Given the description of an element on the screen output the (x, y) to click on. 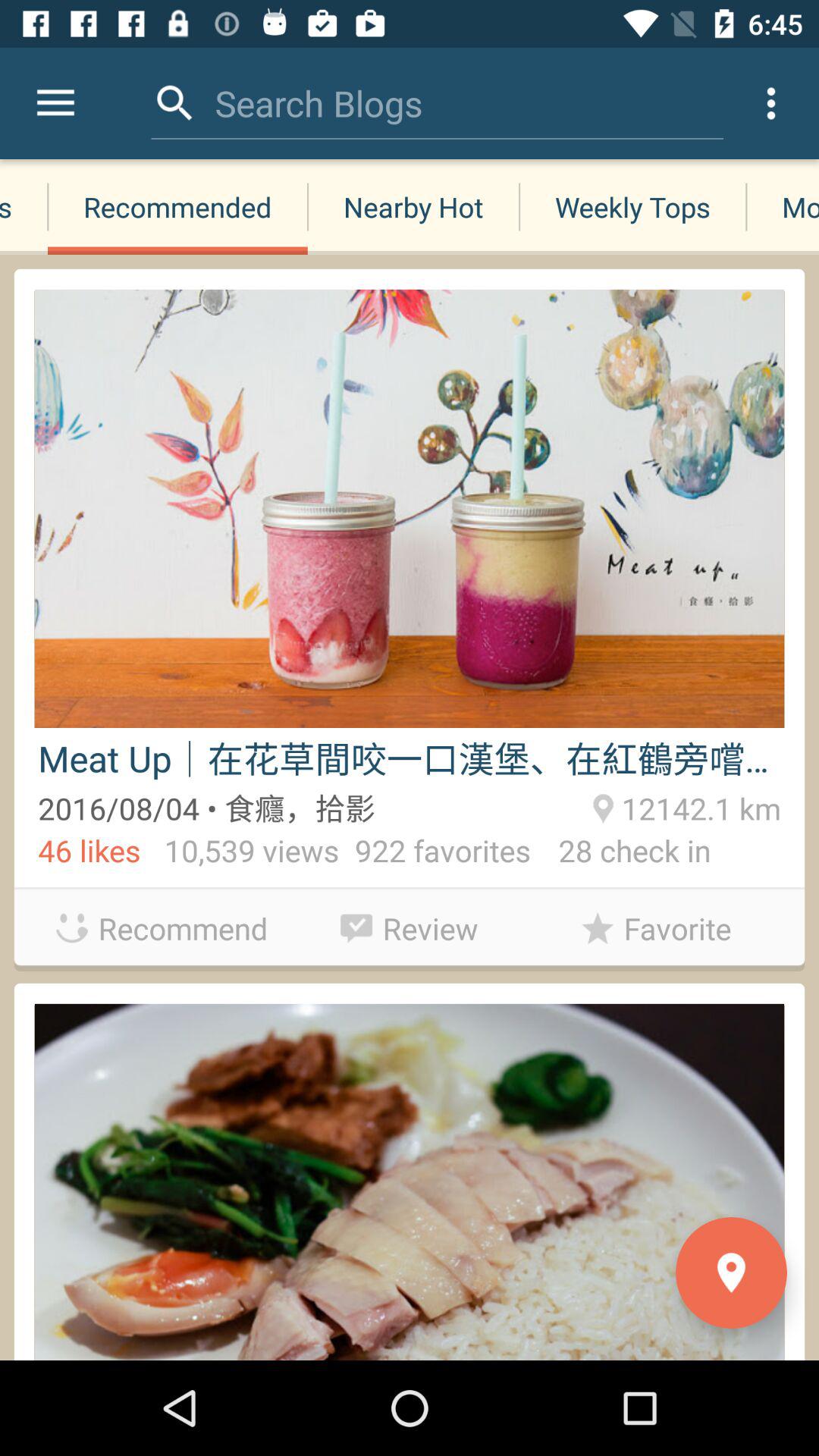
open item below search blogs item (413, 206)
